Given the description of an element on the screen output the (x, y) to click on. 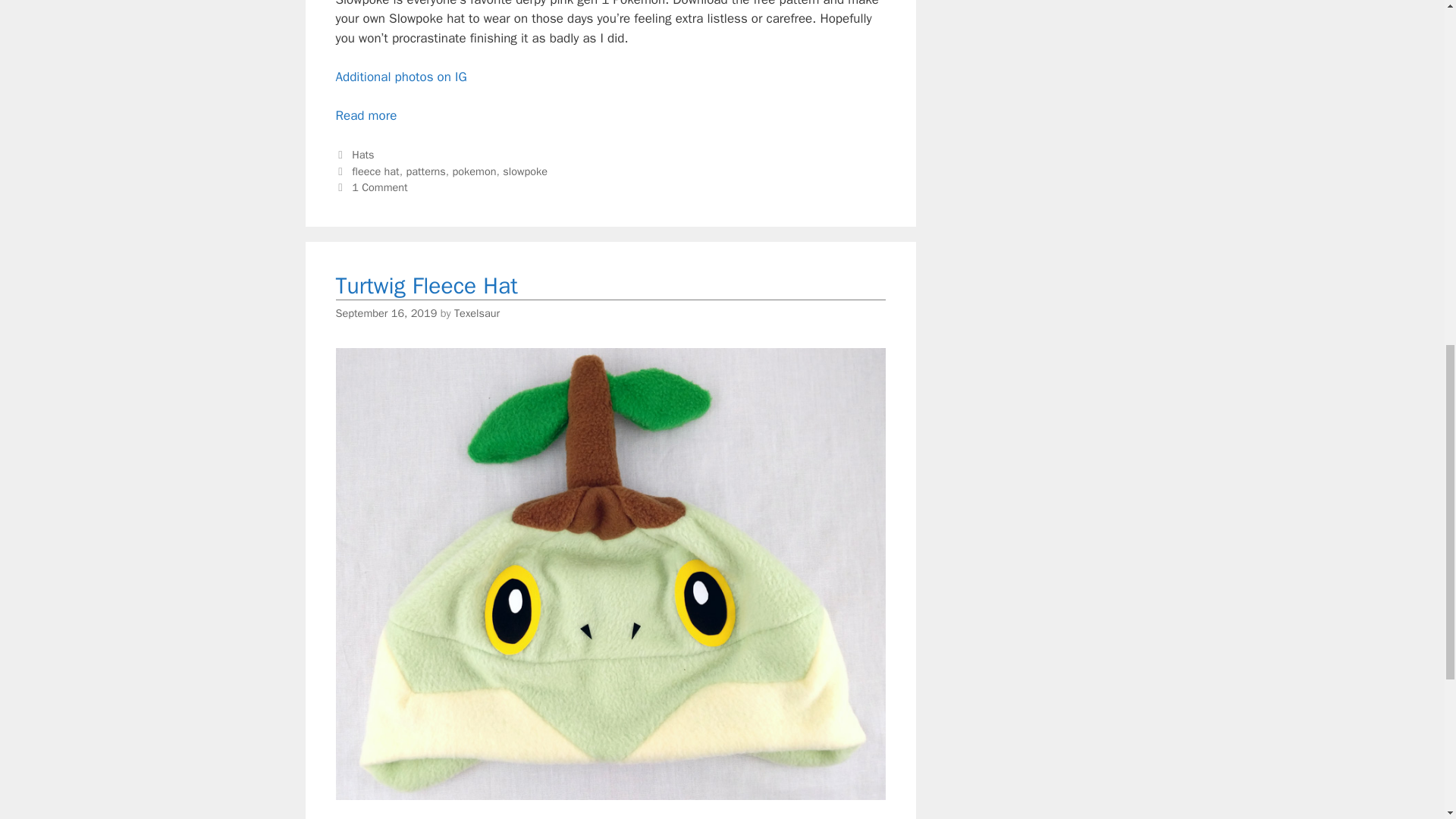
September 16, 2019 (385, 313)
View all posts by Texelsaur (476, 313)
Hats (363, 154)
pokemon (474, 171)
patterns (425, 171)
Turtwig Fleece Hat (425, 285)
slowpoke (524, 171)
4:40 am (385, 313)
1 Comment (379, 187)
itional photos on IG (410, 76)
